Given the description of an element on the screen output the (x, y) to click on. 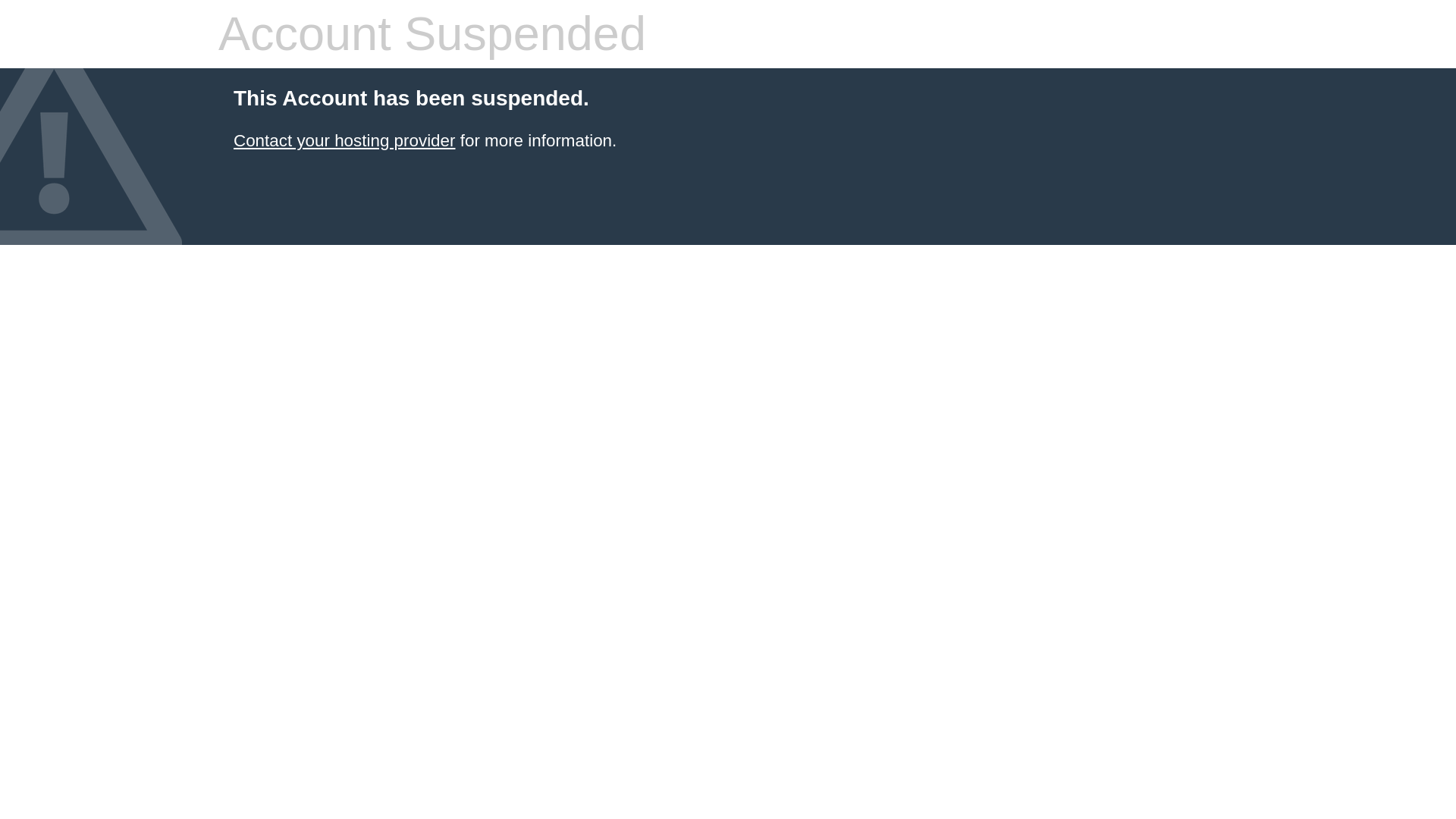
Contact your hosting provider (343, 140)
